Given the description of an element on the screen output the (x, y) to click on. 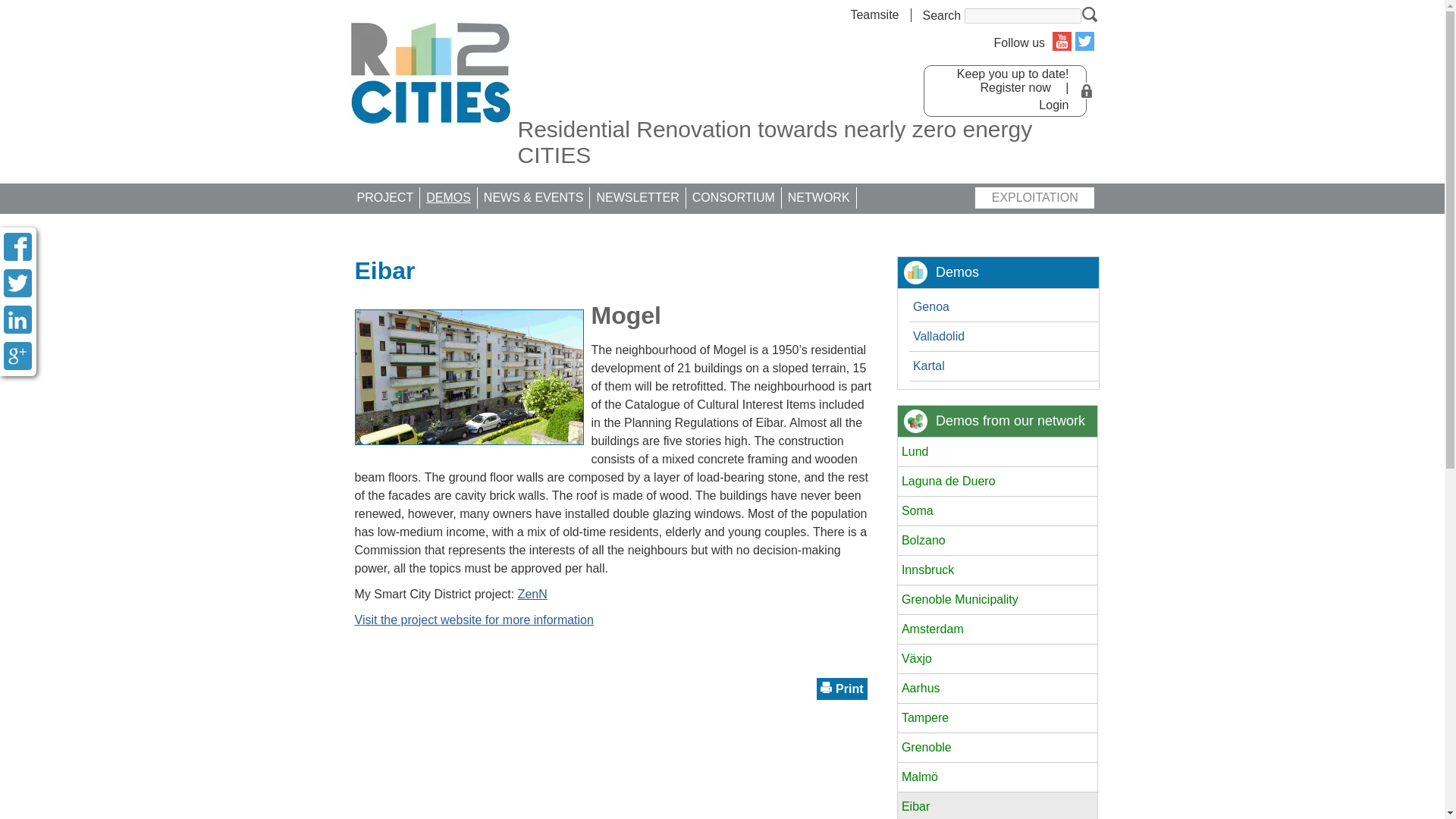
PROJECT (384, 197)
Lund (997, 451)
Amsterdam (997, 629)
DEMOS (448, 197)
Valladolid (1003, 338)
Home page (429, 72)
Bolzano (997, 540)
Grenoble Municipality (997, 599)
NEWSLETTER (636, 197)
CONTACT (489, 226)
Tampere (997, 717)
Login (1047, 105)
Esegui ricerca (1089, 13)
EXPLOITATION (1035, 197)
Genoa (1003, 309)
